Given the description of an element on the screen output the (x, y) to click on. 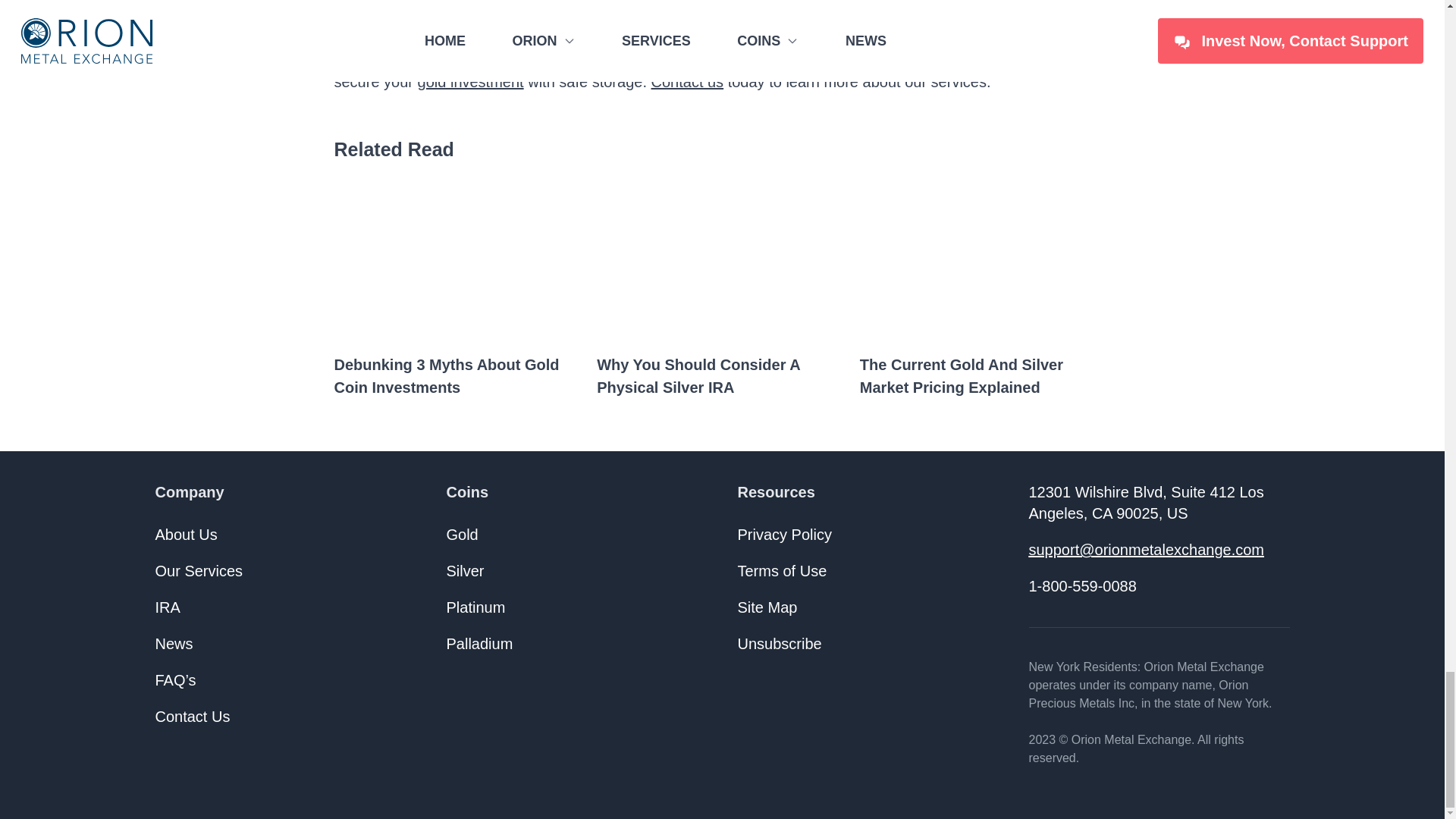
Contact us (686, 81)
gold and silver investment company (510, 32)
Why You Should Consider a Physical Silver IRA (721, 377)
gold investment (470, 81)
precious metals (885, 32)
Debunking 3 Myths About Gold Coin Investments (459, 377)
Why You Should Consider A Physical Silver IRA (721, 377)
Orion Metal Exchange (539, 56)
Debunking 3 Myths About Gold Coin Investments (459, 377)
The Current Gold and Silver Market Pricing Explained (985, 377)
